Given the description of an element on the screen output the (x, y) to click on. 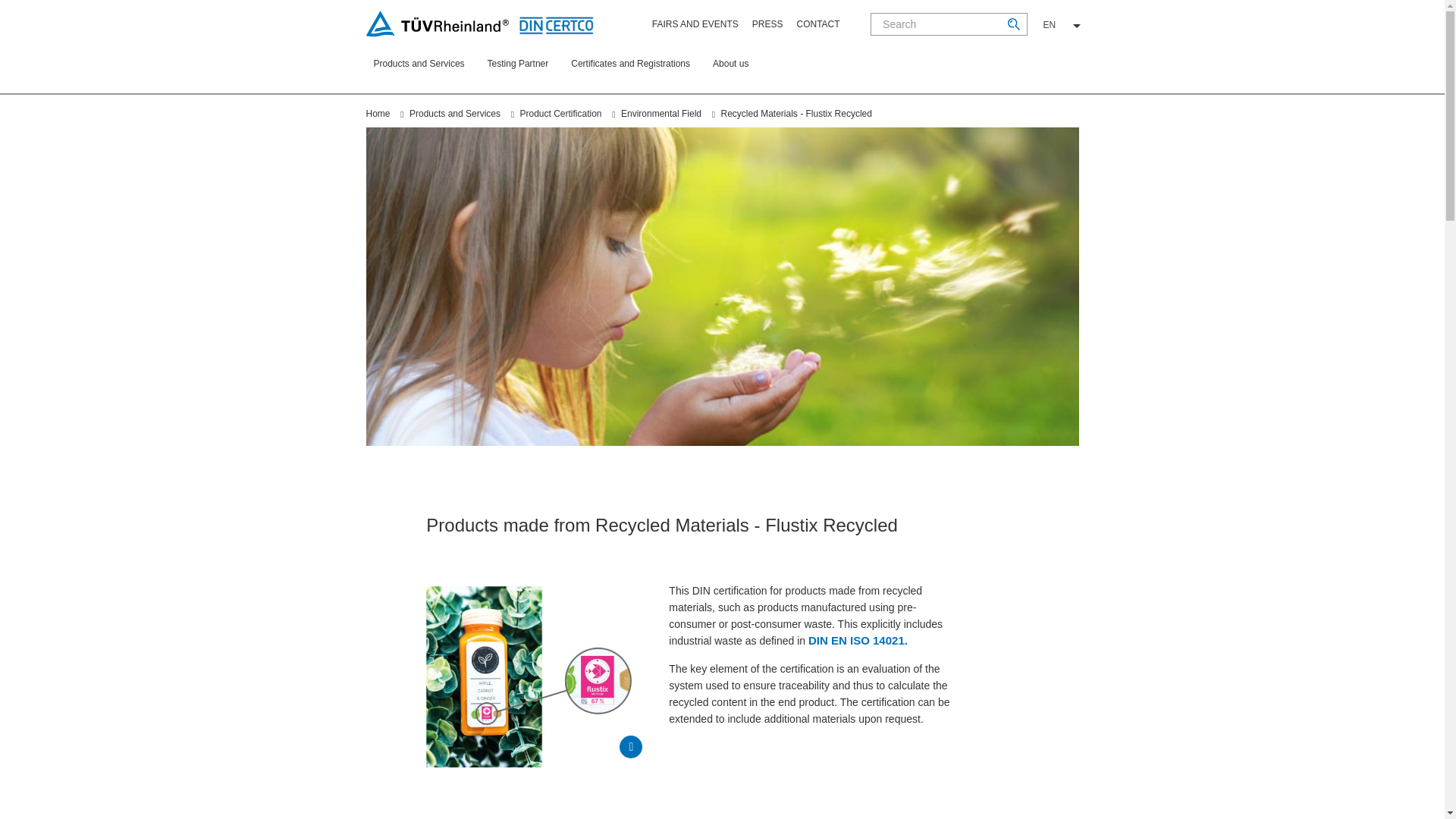
FAIRS AND EVENTS (695, 24)
EN (1062, 24)
Products and Services (422, 75)
PRESS (767, 24)
CONTACT (818, 24)
